Given the description of an element on the screen output the (x, y) to click on. 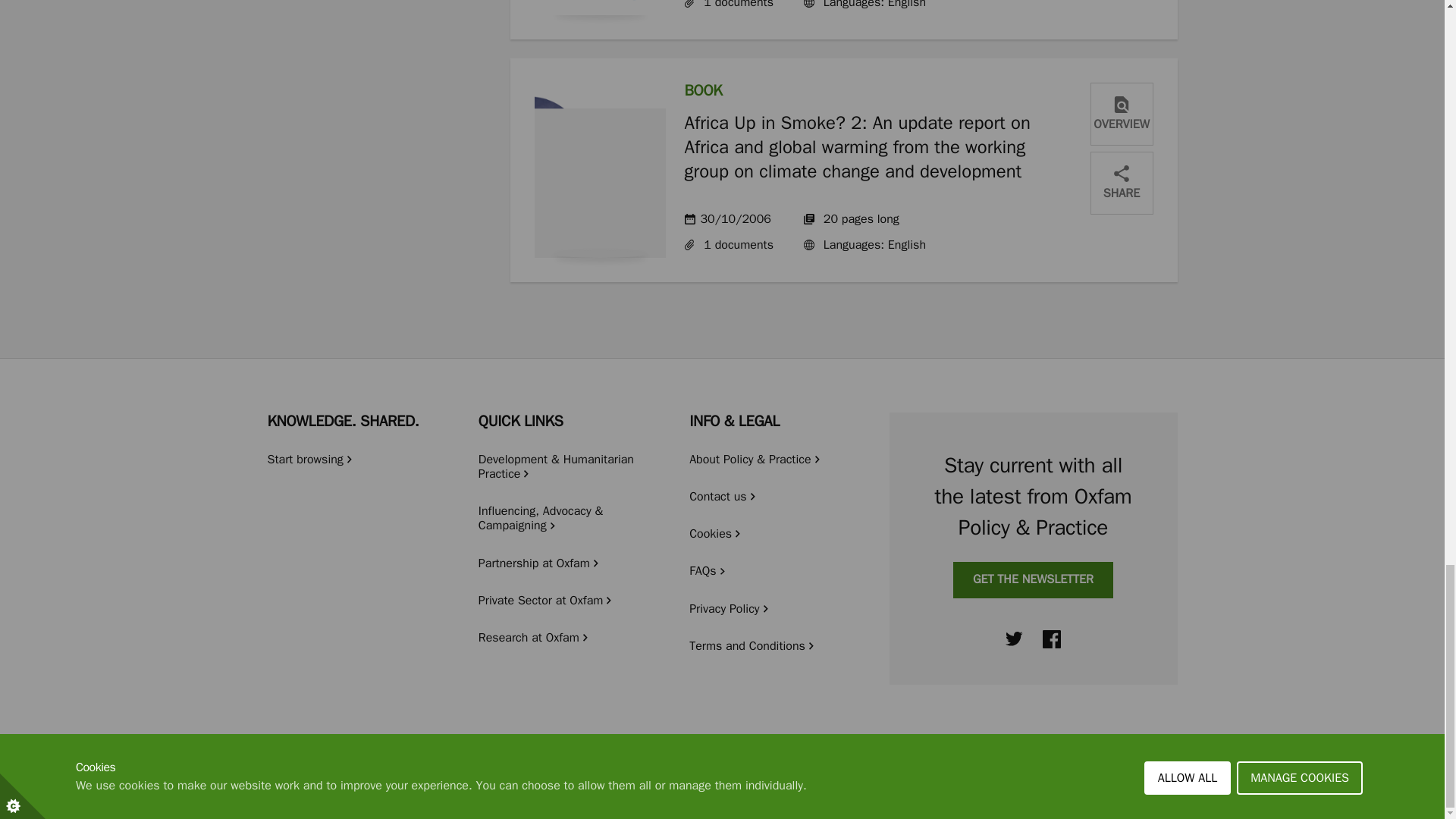
Get the newsletter (1032, 579)
